Given the description of an element on the screen output the (x, y) to click on. 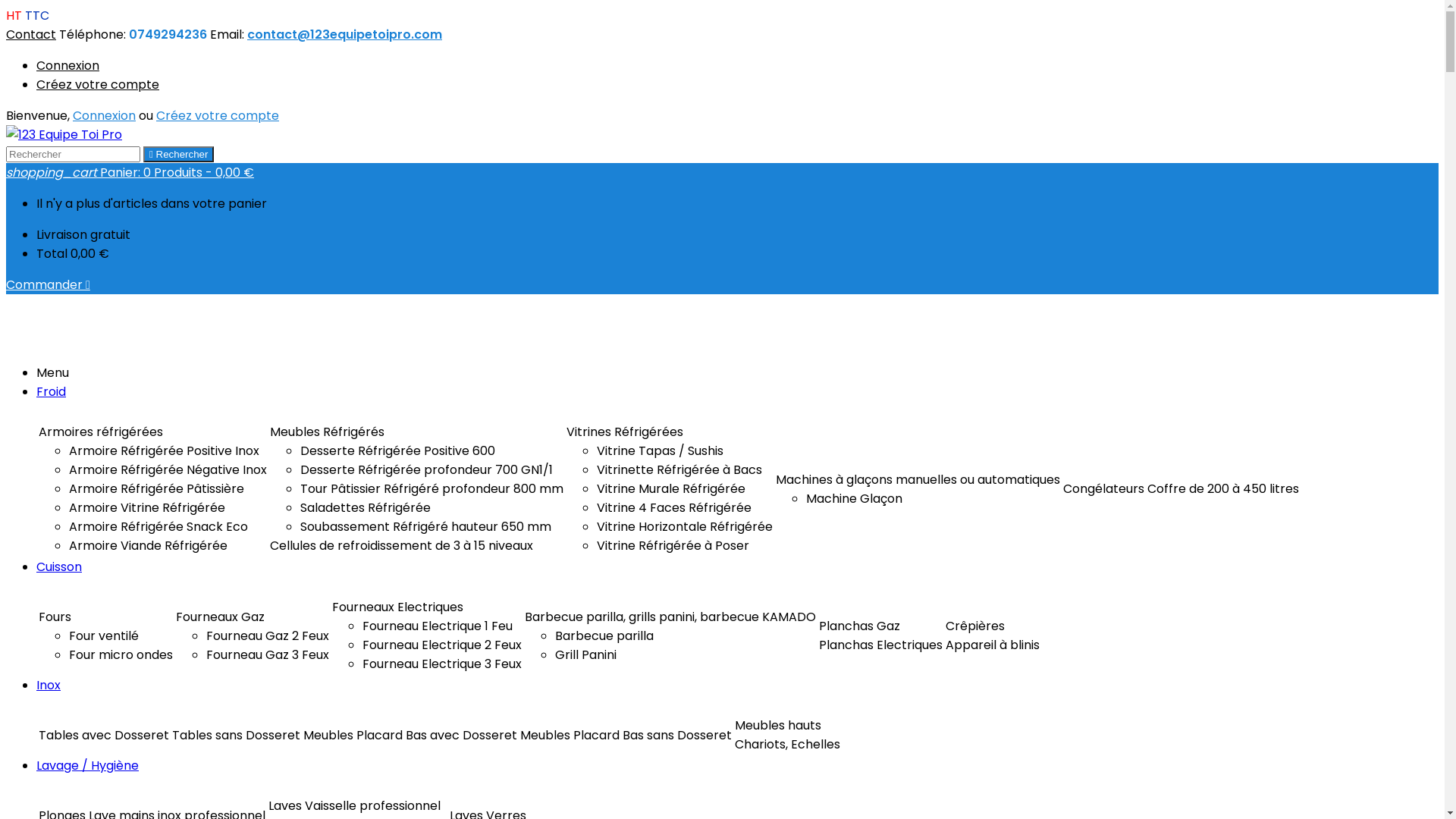
Menu Element type: text (52, 372)
Cuisson Element type: text (58, 566)
Froid Element type: text (50, 391)
Inox Element type: text (48, 684)
Contact Element type: text (31, 34)
contact@123equipetoipro.com Element type: text (344, 34)
Connexion Element type: text (67, 65)
Connexion Element type: text (103, 115)
